Given the description of an element on the screen output the (x, y) to click on. 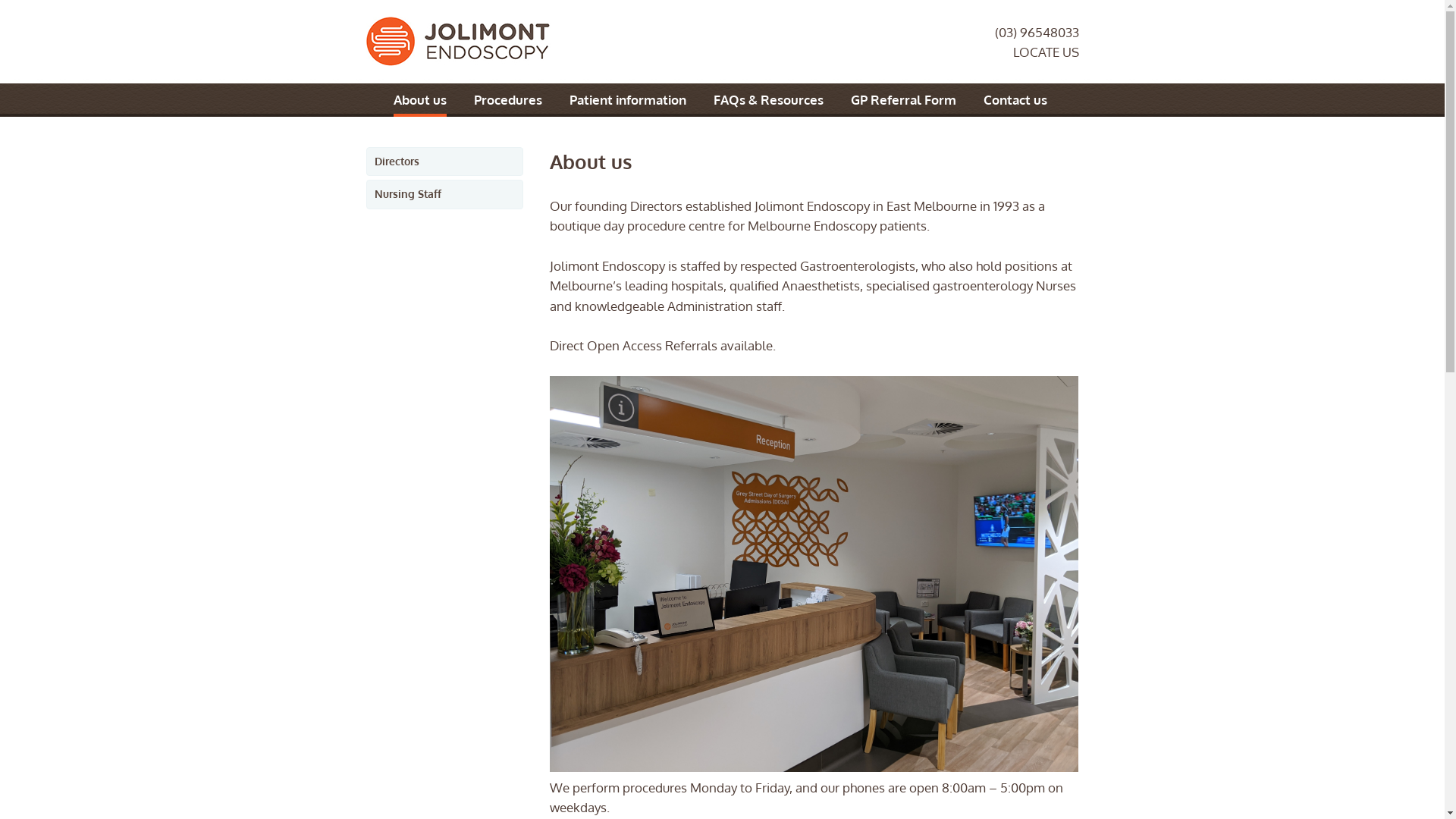
Jolimont Endoscopy Element type: text (457, 40)
Nursing Staff Element type: text (443, 193)
FAQs & Resources Element type: text (767, 102)
Directors Element type: text (443, 161)
GP Referral Form Element type: text (903, 102)
LOCATE US Element type: text (1046, 51)
About us Element type: text (418, 103)
Procedures Element type: text (507, 102)
Patient information Element type: text (626, 102)
Contact us Element type: text (1014, 102)
